Given the description of an element on the screen output the (x, y) to click on. 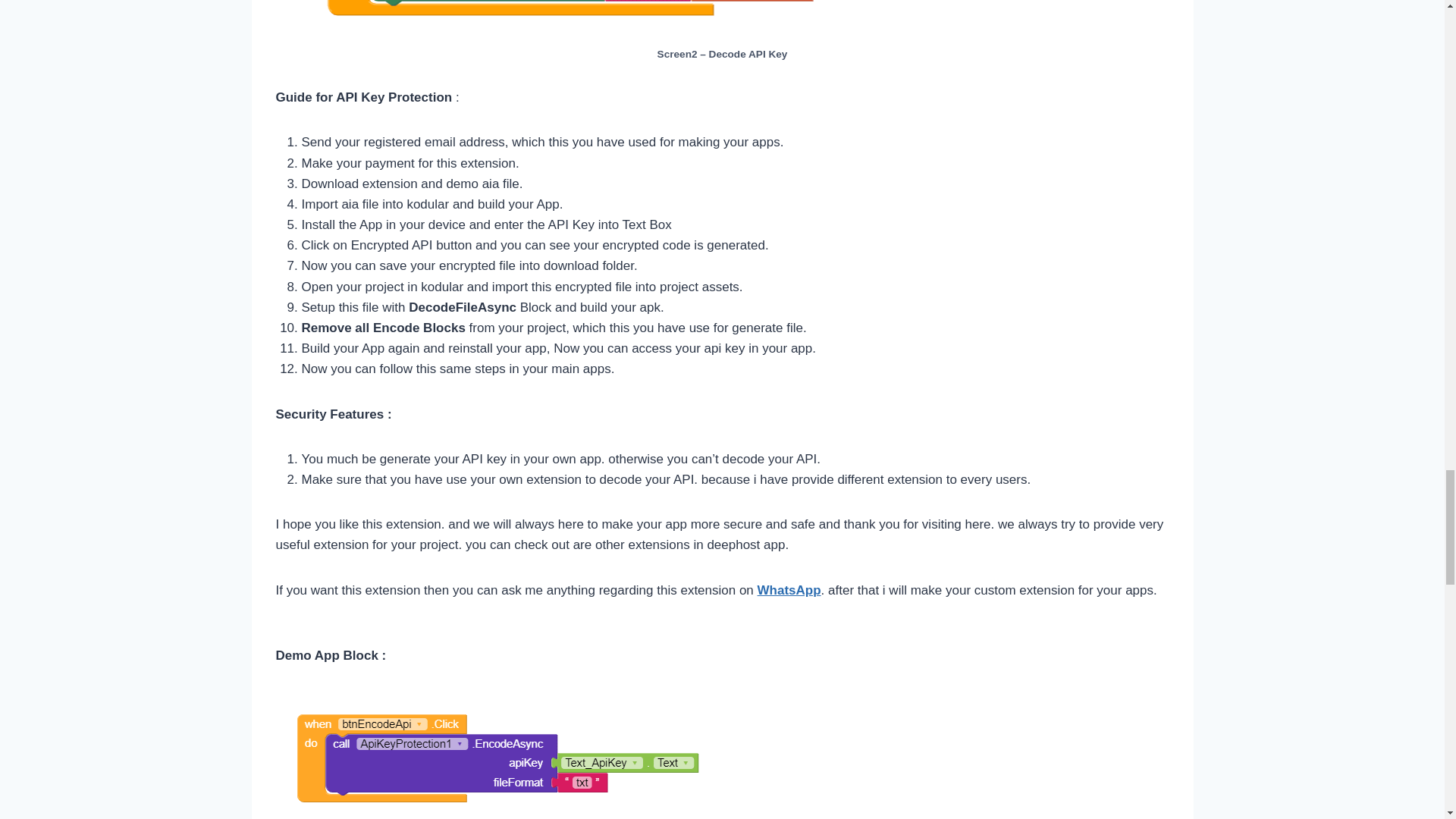
WhatsApp (789, 590)
